Given the description of an element on the screen output the (x, y) to click on. 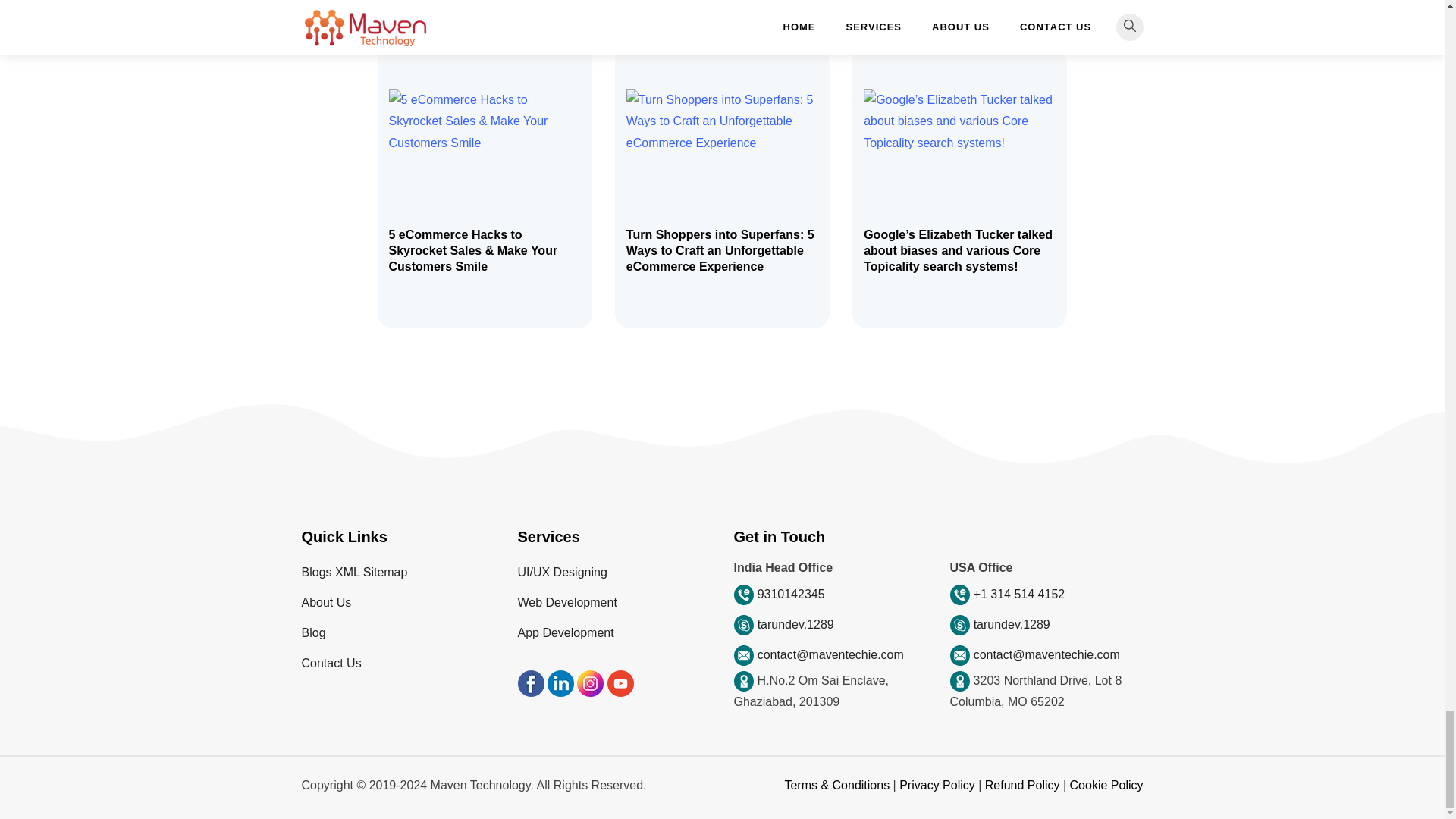
Web Development (565, 602)
Blog (313, 632)
Blogs XML Sitemap (354, 571)
About Us (326, 602)
App Development (564, 632)
Contact Us (331, 662)
